Given the description of an element on the screen output the (x, y) to click on. 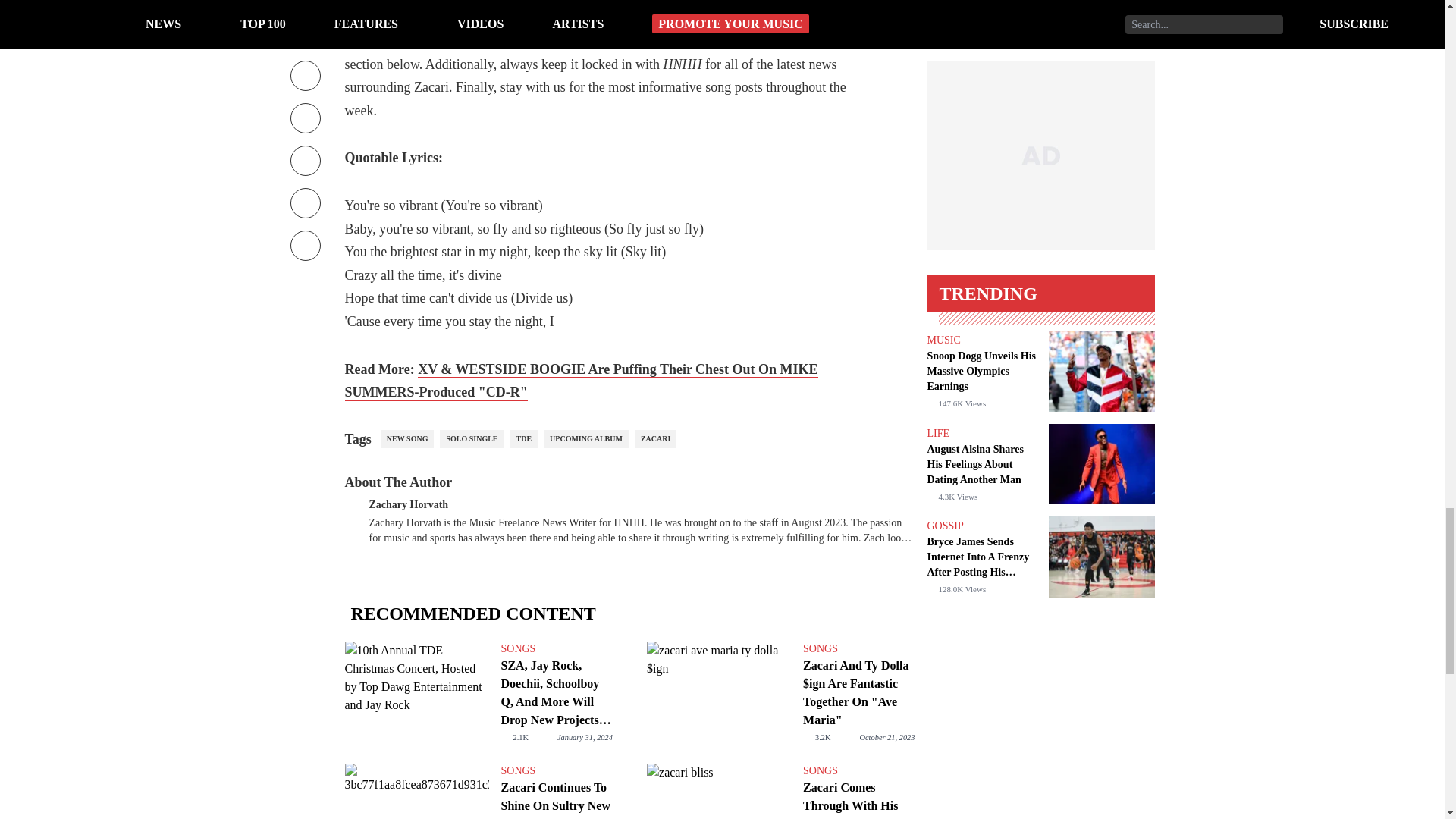
SONGS (555, 648)
Zachary Horvath (408, 502)
SONGS (858, 770)
SONGS (858, 648)
SOLO SINGLE (471, 438)
UPCOMING ALBUM (585, 438)
